Given the description of an element on the screen output the (x, y) to click on. 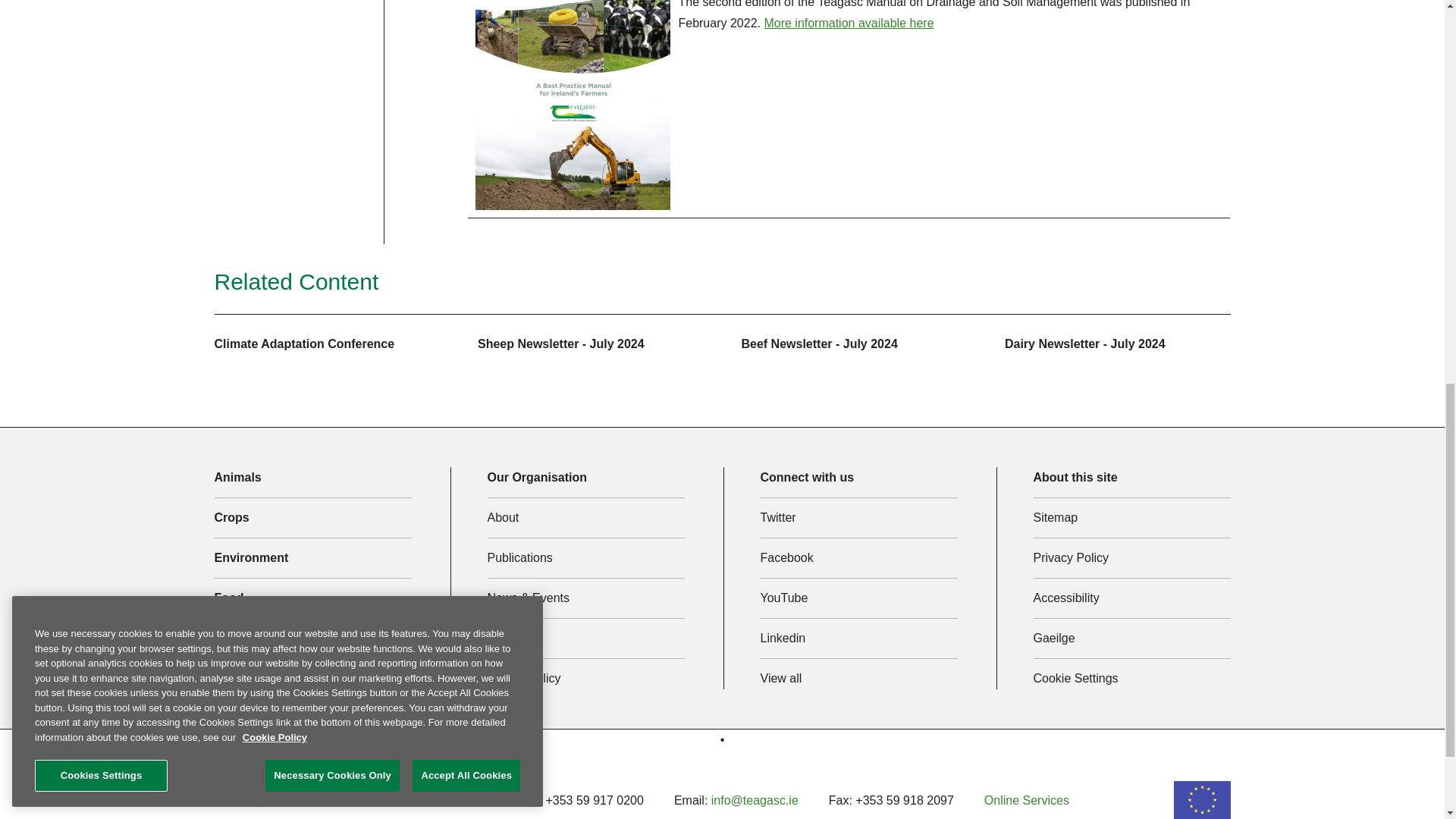
EU (1201, 800)
